Given the description of an element on the screen output the (x, y) to click on. 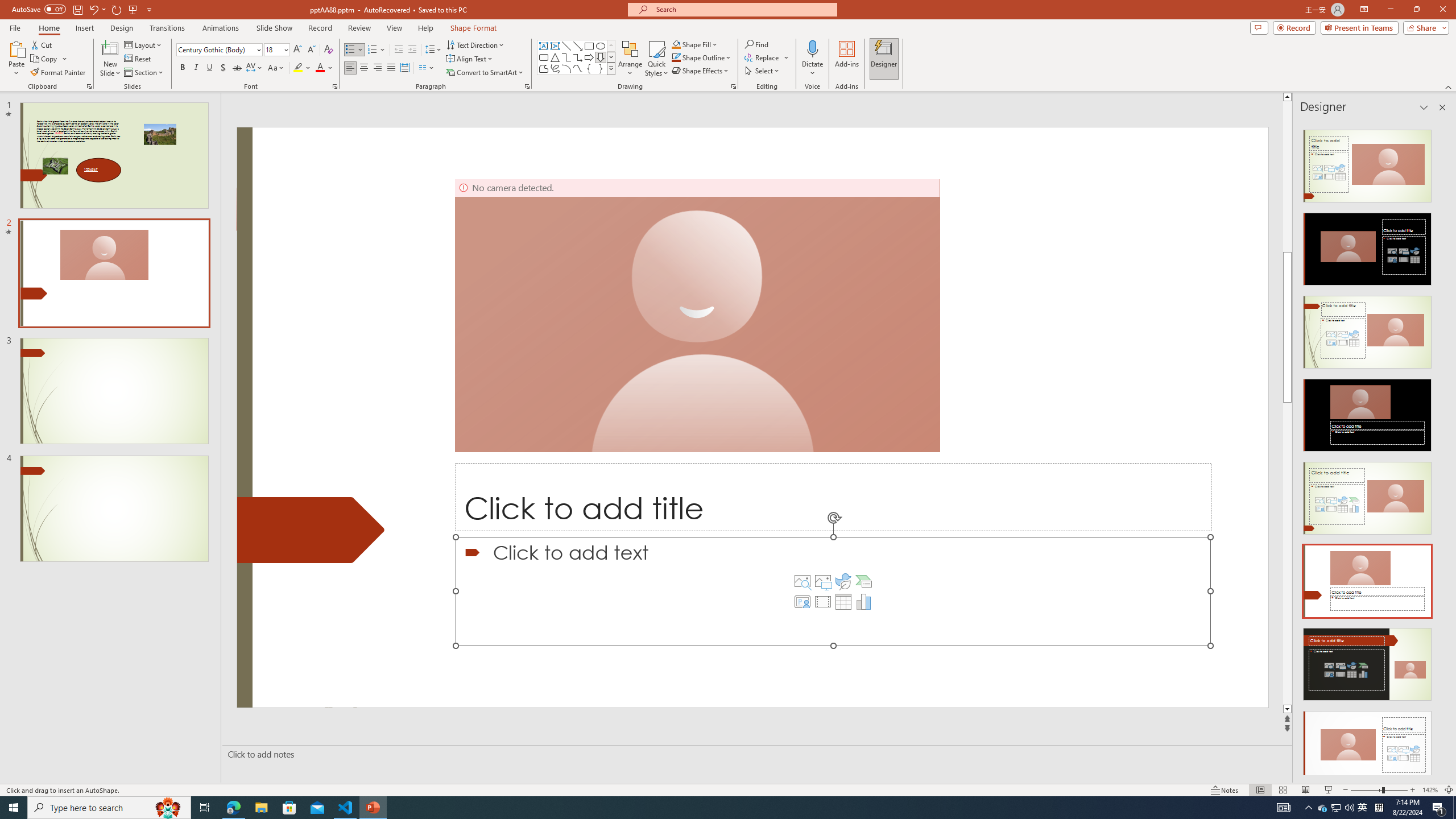
Connector: Elbow Arrow (577, 57)
Insert Table (843, 601)
Decrease Font Size (310, 49)
Zoom (1379, 790)
Collapse the Ribbon (1448, 86)
Zoom to Fit  (1449, 790)
Reading View (1305, 790)
Transitions (167, 28)
Undo (96, 9)
Quick Styles (656, 58)
Freeform: Shape (543, 68)
Italic (195, 67)
Zoom In (1412, 790)
Save (77, 9)
Left Brace (589, 68)
